Given the description of an element on the screen output the (x, y) to click on. 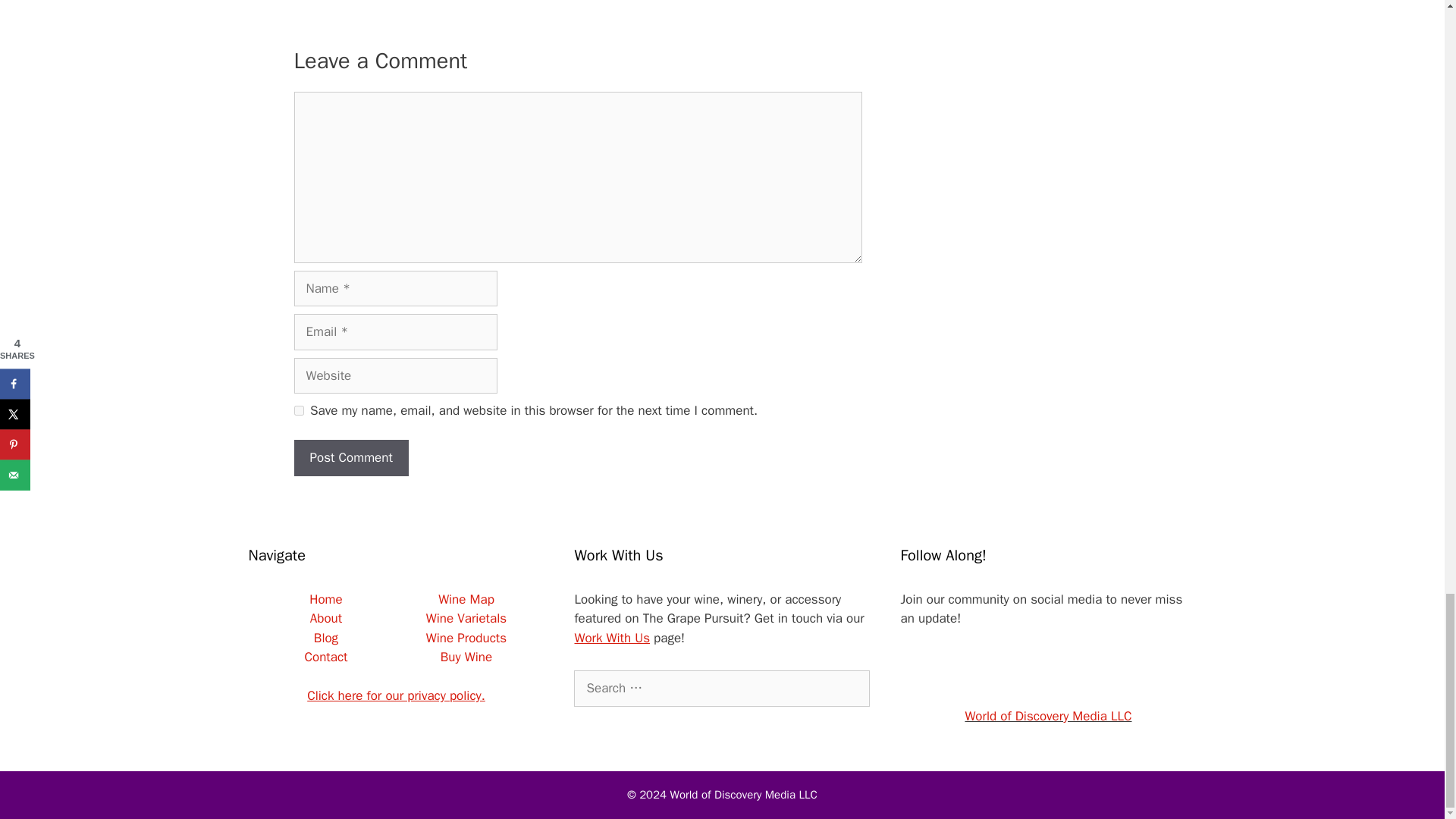
Post Comment (351, 457)
yes (299, 410)
